Given the description of an element on the screen output the (x, y) to click on. 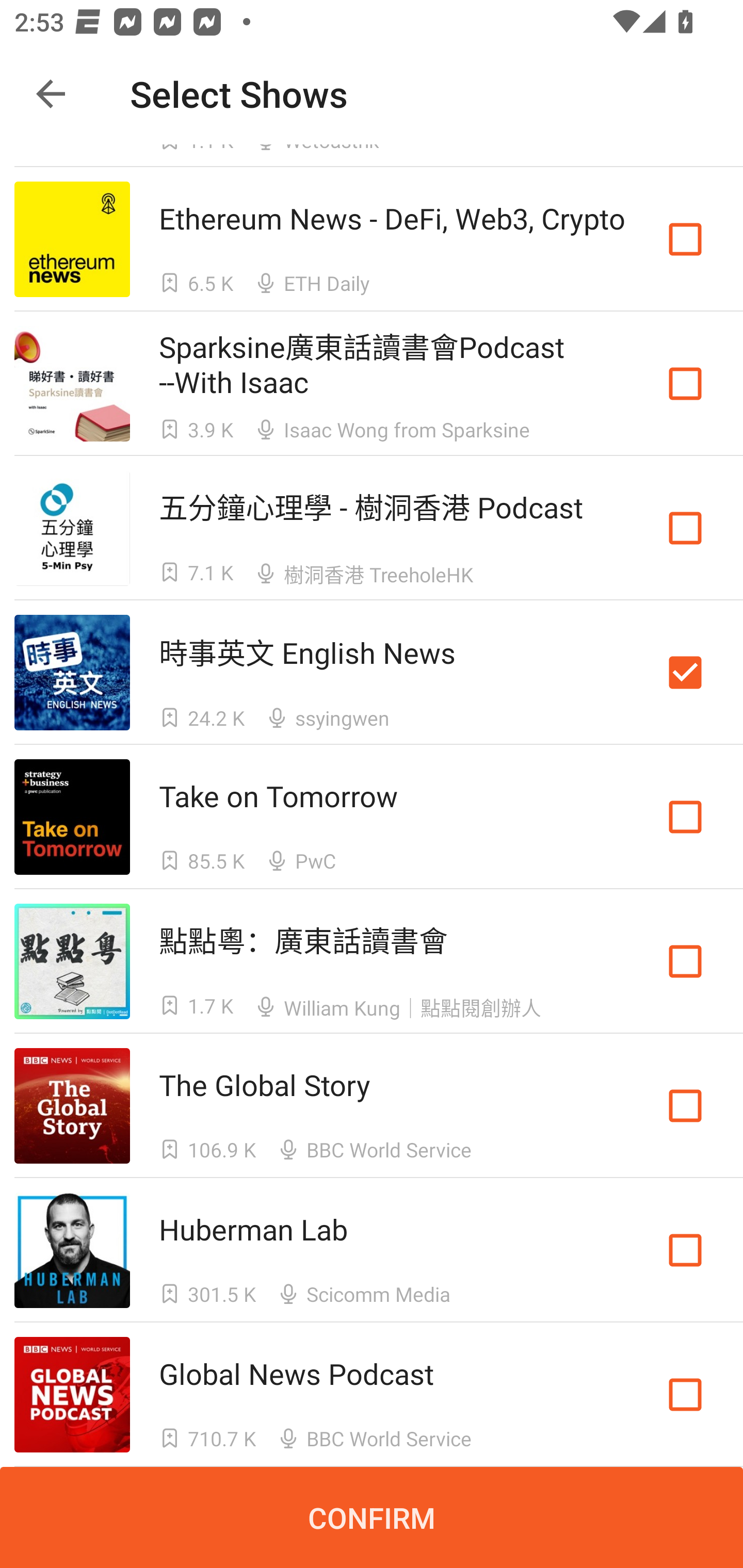
Navigate up (50, 93)
Take on Tomorrow Take on Tomorrow  85.5 K  PwC (371, 816)
CONFIRM (371, 1517)
